Given the description of an element on the screen output the (x, y) to click on. 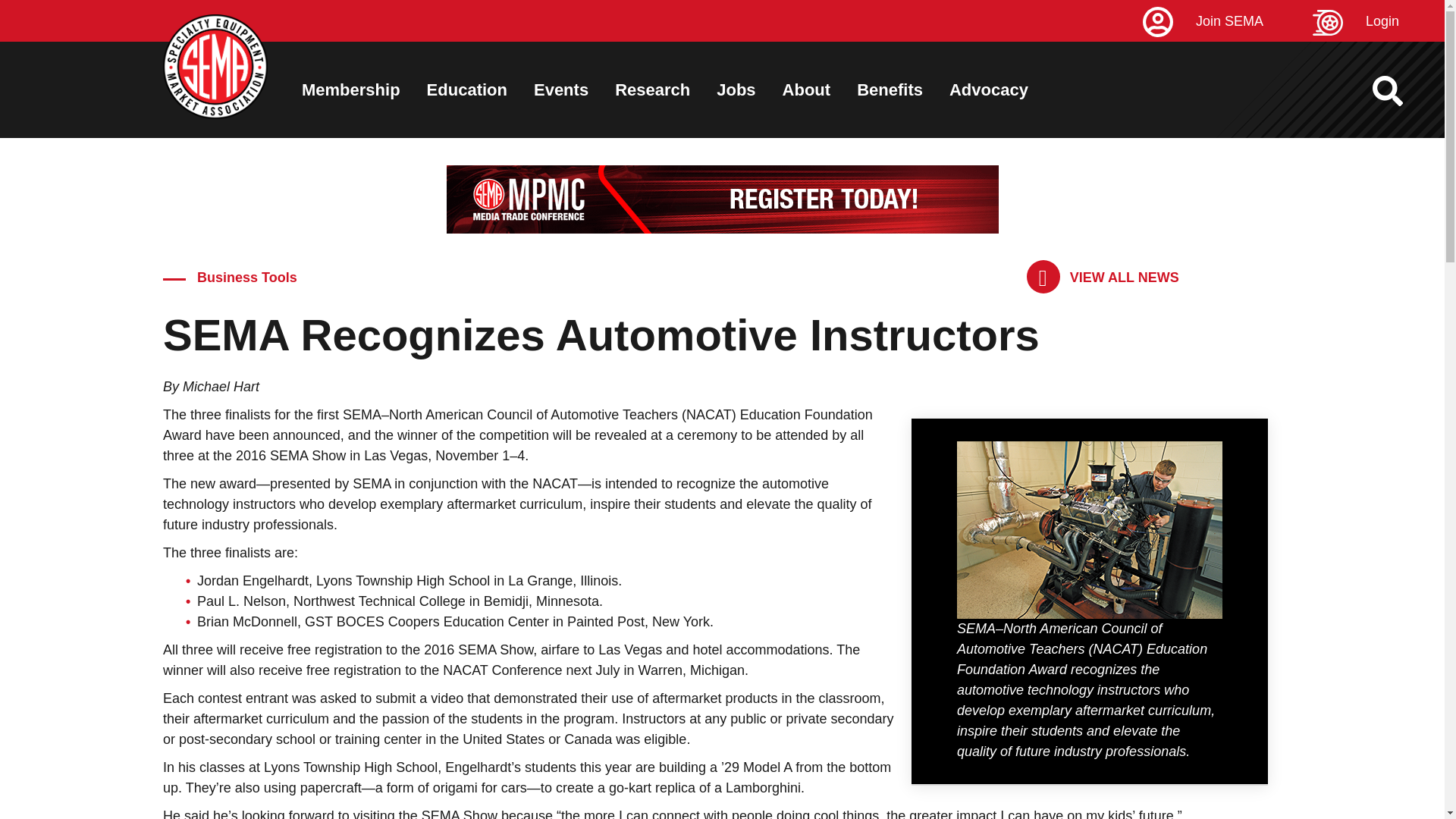
Membership (350, 89)
Advocacy (988, 89)
Login (1378, 20)
automotive (1089, 530)
MPMC Media Trade Conference 2024 (721, 199)
Search Sema.org (1401, 91)
eNews archive (1102, 277)
Benefits (889, 89)
Research (652, 89)
VIEW ALL NEWS (1102, 277)
Education (466, 89)
Join SEMA (1225, 20)
